Given the description of an element on the screen output the (x, y) to click on. 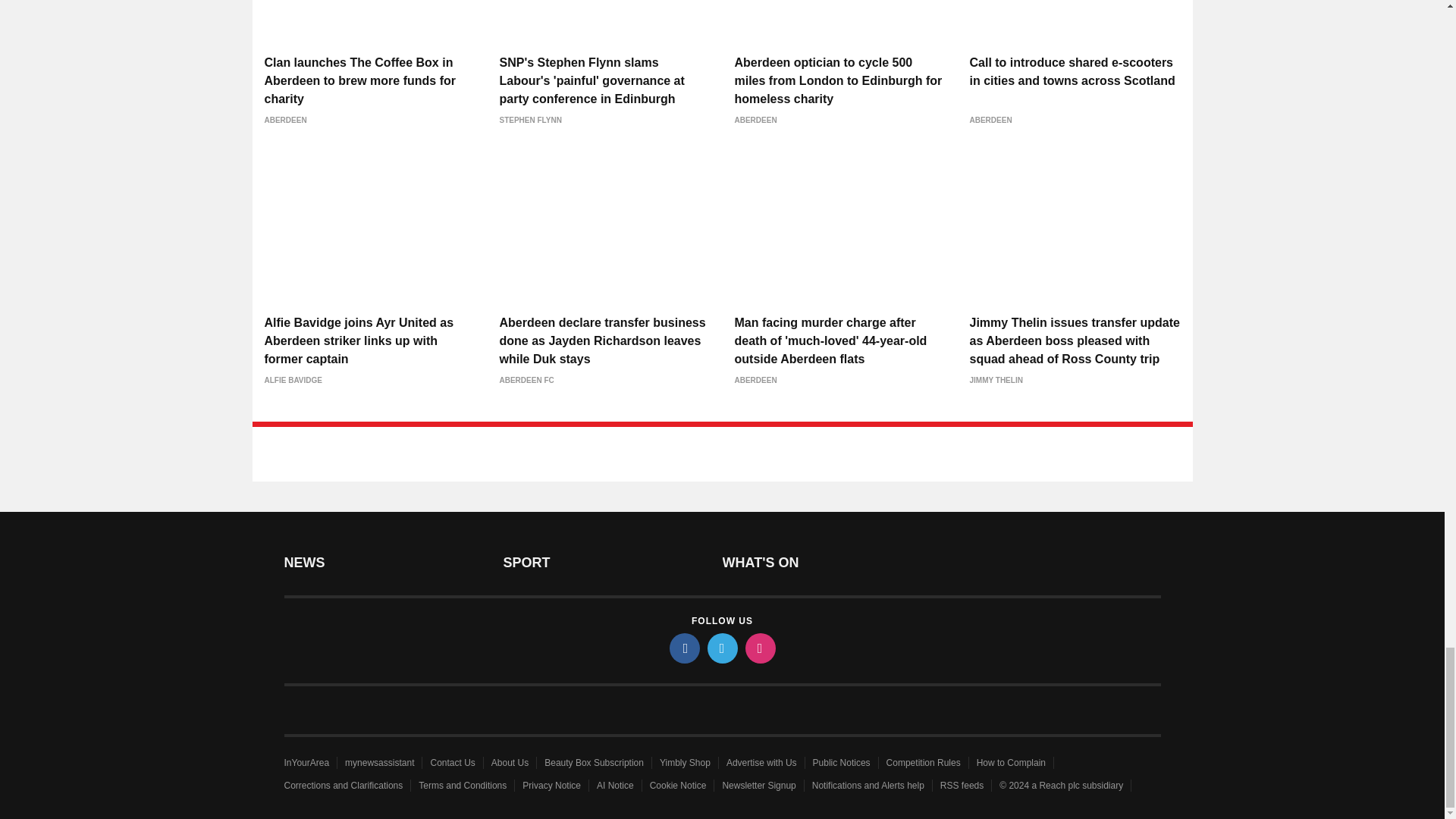
twitter (721, 648)
instagram (759, 648)
facebook (683, 648)
